Given the description of an element on the screen output the (x, y) to click on. 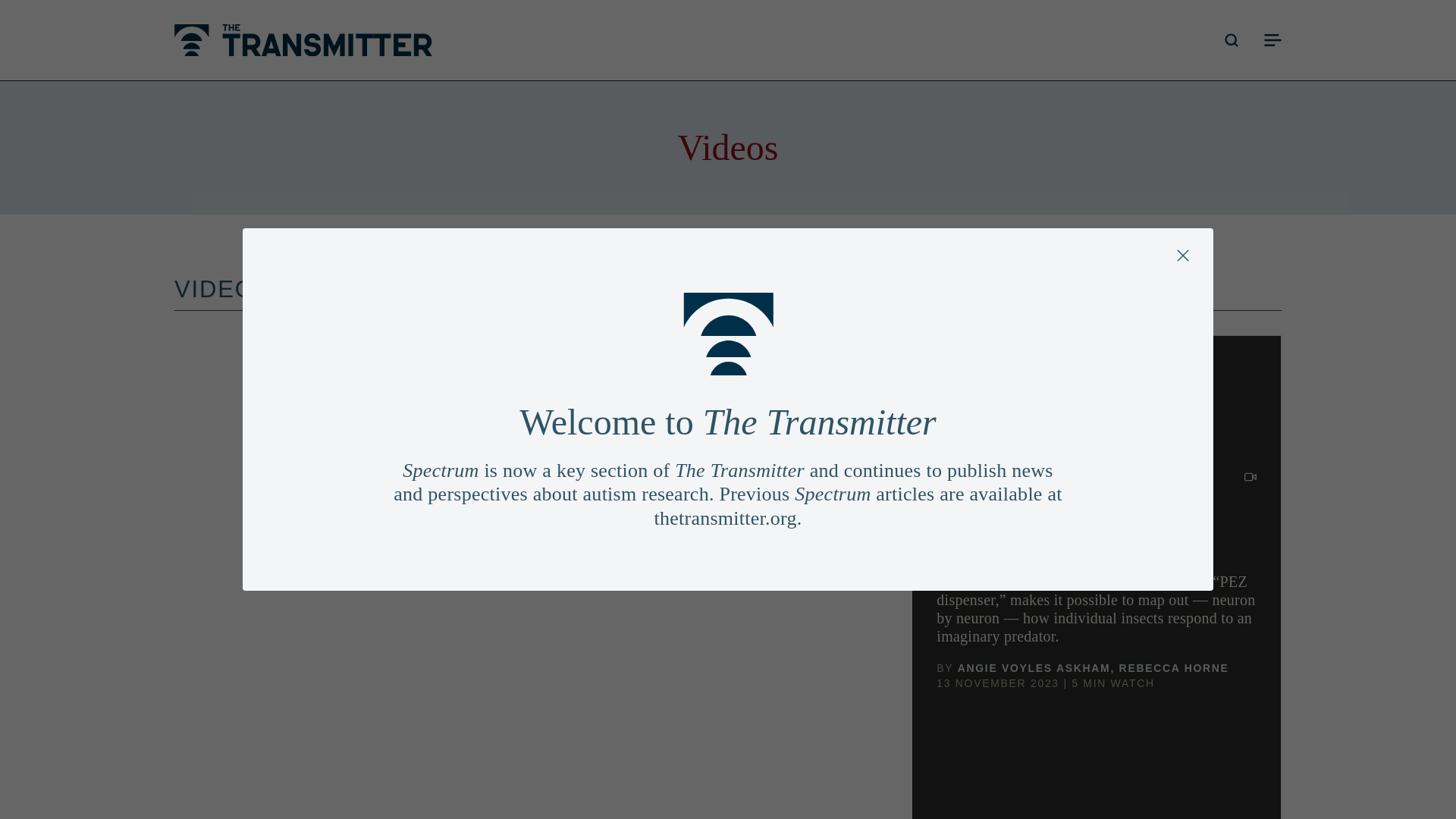
The Transmitter (303, 40)
Open search form (1231, 39)
Open menu (1272, 40)
